Given the description of an element on the screen output the (x, y) to click on. 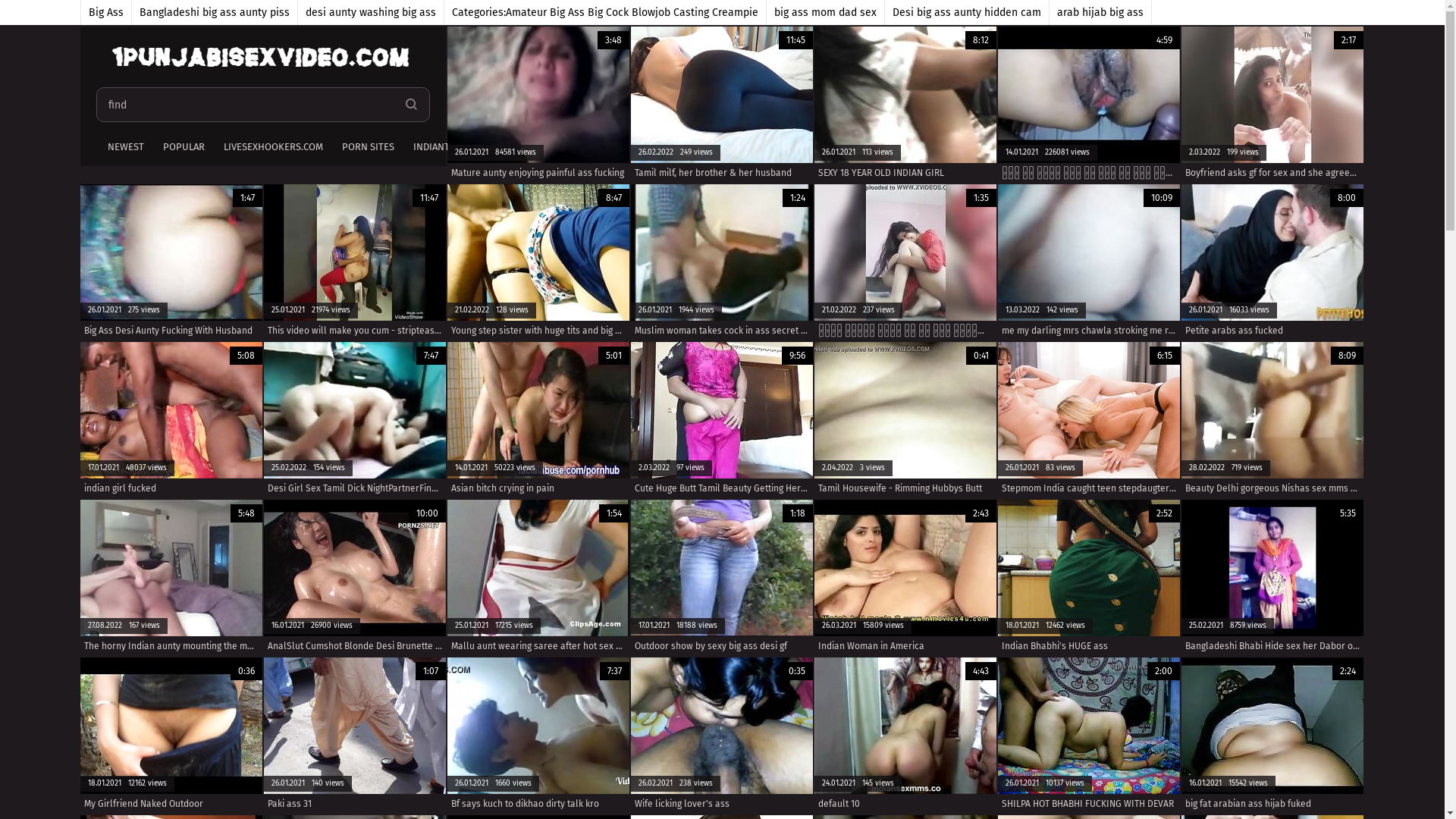
INDIANTUBE Element type: text (438, 147)
NEWEST Element type: text (122, 147)
0:36
18.01.2021   12162 views
My Girlfriend Naked Outdoor Element type: text (171, 735)
Bangladeshi big ass aunty piss Element type: text (214, 12)
POPULAR Element type: text (181, 147)
desi aunty washing big ass Element type: text (370, 12)
big ass mom dad sex Element type: text (824, 12)
LIVESEXHOOKERS.COM Element type: text (271, 147)
Desi big ass aunty hidden cam Element type: text (966, 12)
Big Ass Element type: text (105, 12)
5:01
14.01.2021   50223 views
Asian bitch crying in pain Element type: text (538, 420)
Categories:Amateur Big Ass Big Cock Blowjob Casting Creampie Element type: text (605, 12)
0:35
26.02.2021   238 views
Wife licking lover's ass Element type: text (721, 735)
arab hijab big ass Element type: text (1100, 12)
2:43
26.03.2021   15809 views
Indian Woman in America Element type: text (905, 577)
8:00
26.01.2021   16033 views
Petite arabs ass fucked Element type: text (1272, 262)
8:12
26.01.2021   113 views
SEXY 18 YEAR OLD INDIAN GIRL Element type: text (905, 104)
PORN SITES Element type: text (365, 147)
5:08
17.01.2021   48037 views
indian girl fucked Element type: text (171, 420)
1:07
26.01.2021   140 views
Paki ass 31 Element type: text (354, 735)
4:43
24.01.2021   145 views
default 10 Element type: text (905, 735)
2:52
18.01.2021   12462 views
Indian Bhabhi's HUGE ass Element type: text (1088, 577)
